Given the description of an element on the screen output the (x, y) to click on. 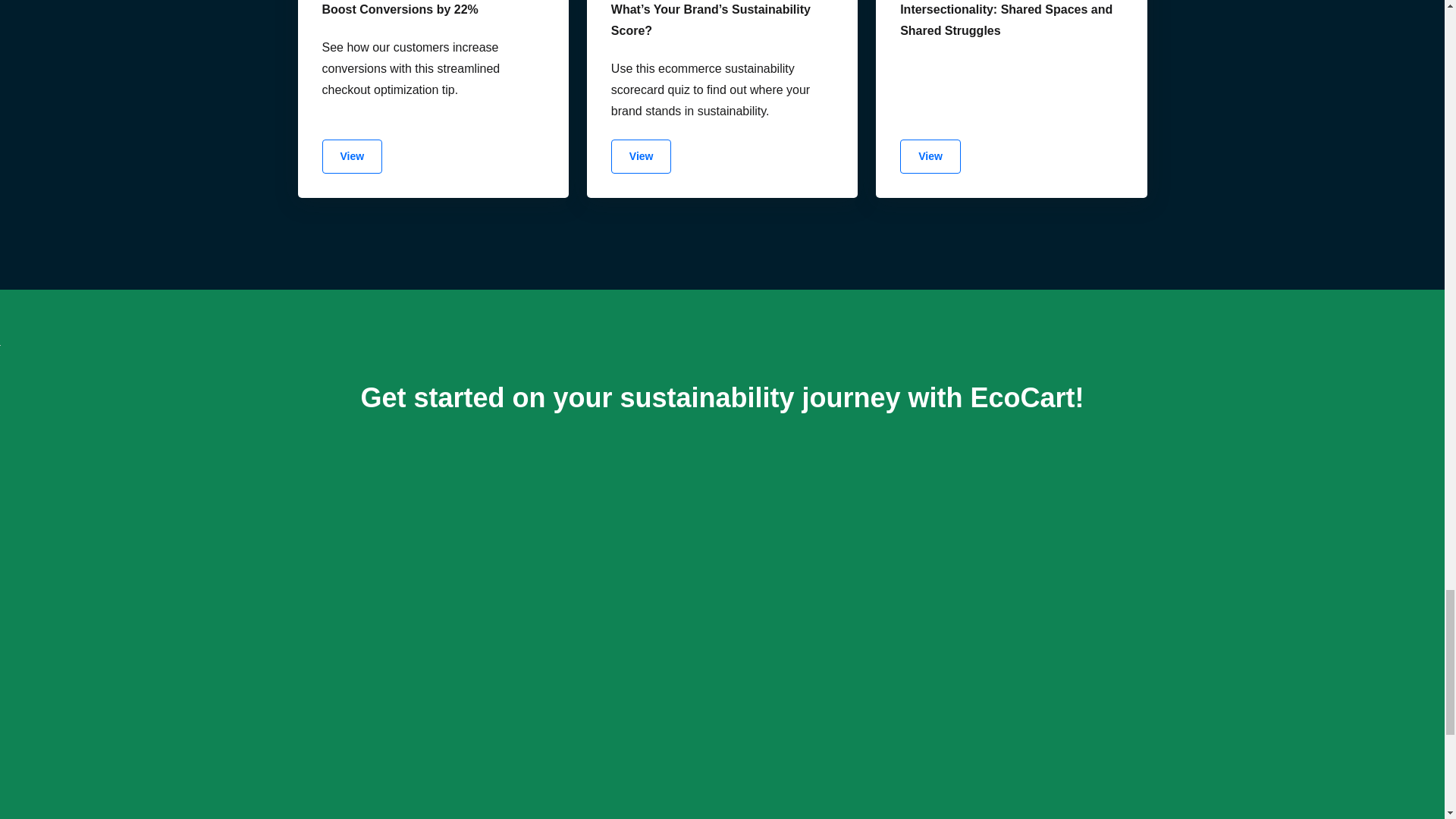
View (351, 156)
View (641, 156)
View (929, 156)
